Given the description of an element on the screen output the (x, y) to click on. 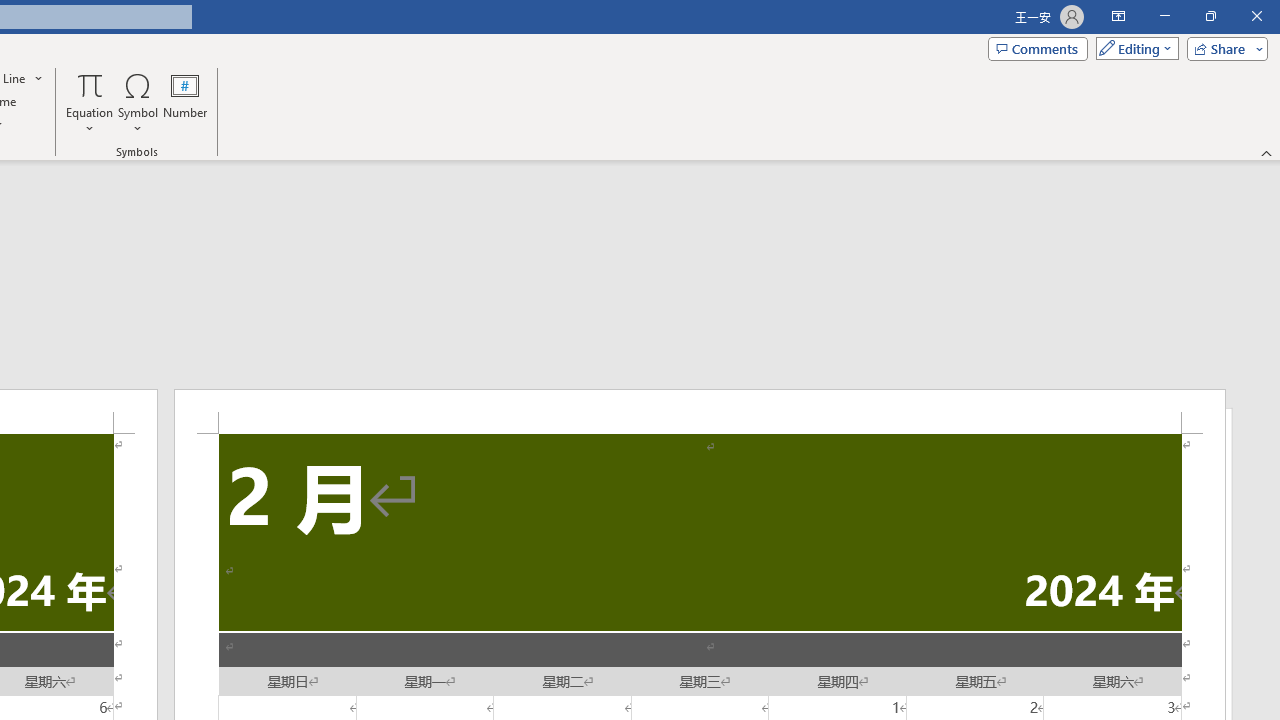
Equation (90, 102)
